Given the description of an element on the screen output the (x, y) to click on. 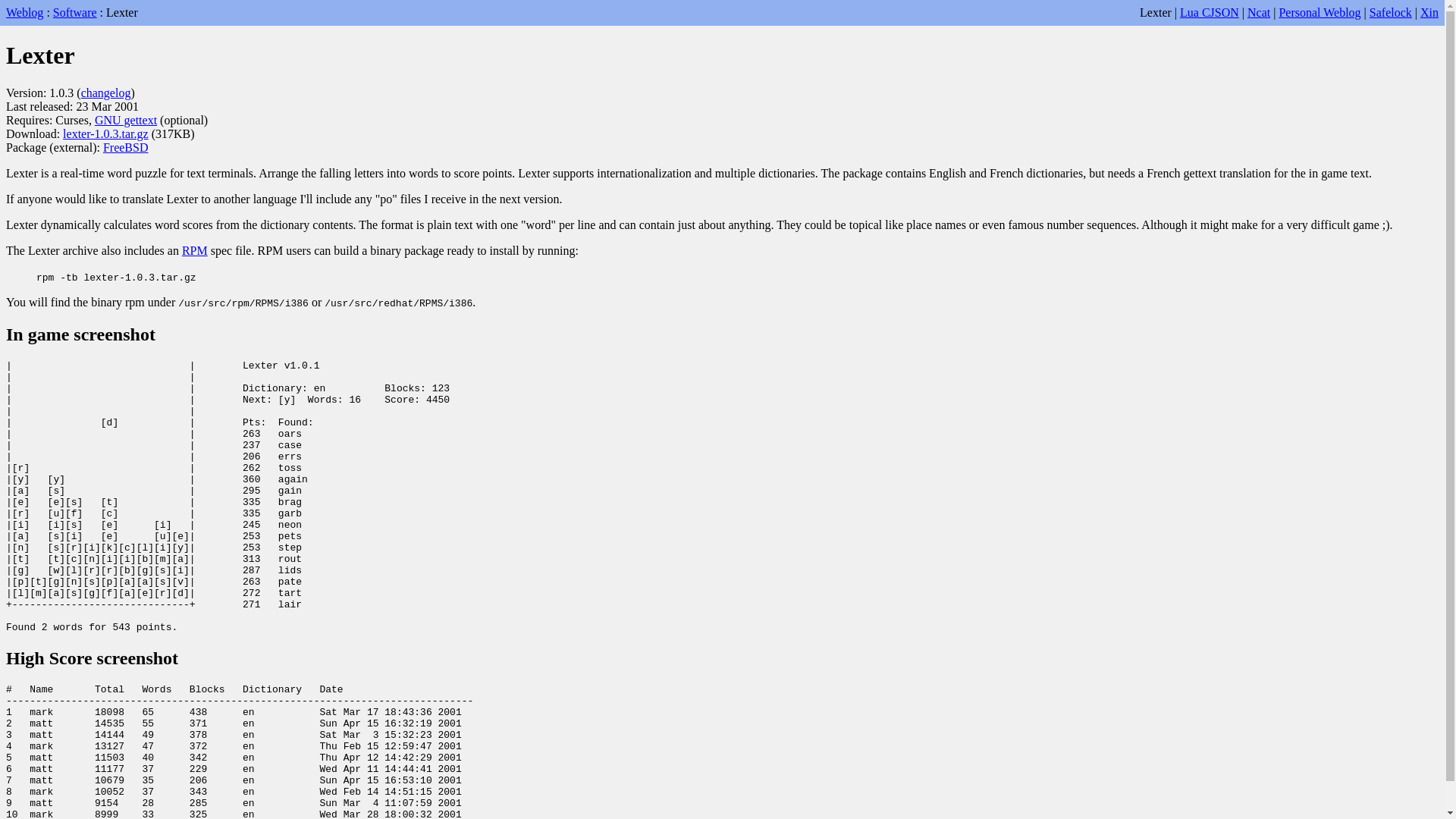
Lua CJSON Element type: text (1209, 12)
Ncat Element type: text (1258, 12)
Weblog Element type: text (24, 12)
Software Element type: text (75, 12)
RPM Element type: text (194, 250)
FreeBSD Element type: text (125, 147)
Personal Weblog Element type: text (1319, 12)
GNU gettext Element type: text (125, 119)
lexter-1.0.3.tar.gz Element type: text (105, 133)
changelog Element type: text (106, 92)
Safelock Element type: text (1390, 12)
Xin Element type: text (1429, 12)
